Given the description of an element on the screen output the (x, y) to click on. 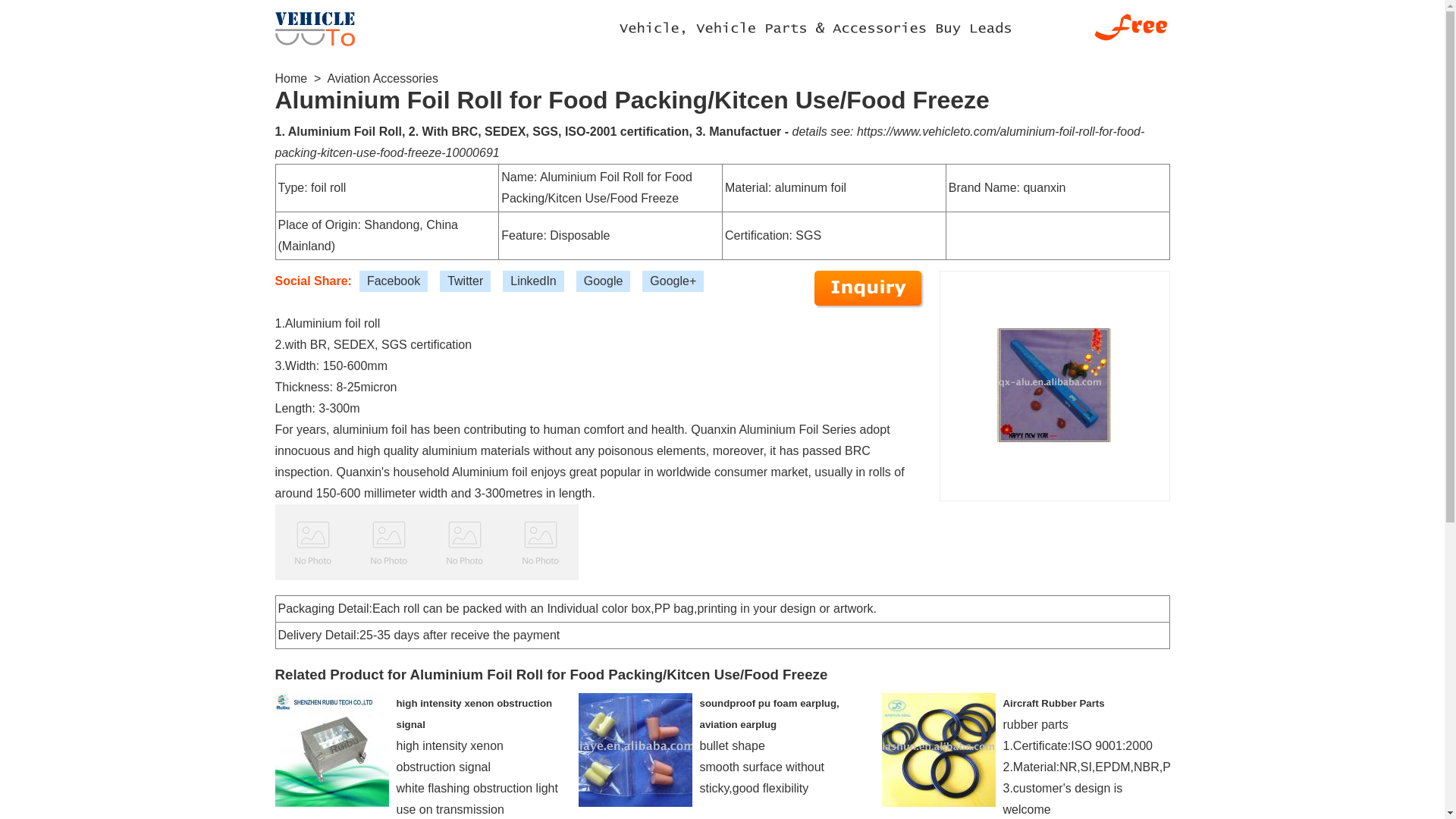
LinkedIn (533, 281)
Google Bookmarks (603, 281)
Google (603, 281)
Aircraft Rubber Parts (1053, 703)
Aviation Accessories (382, 78)
high intensity xenon obstruction signal (473, 713)
Facebook (393, 281)
soundproof pu foam earplug, aviation earplug (768, 713)
Twitter (464, 281)
Home (291, 78)
